Given the description of an element on the screen output the (x, y) to click on. 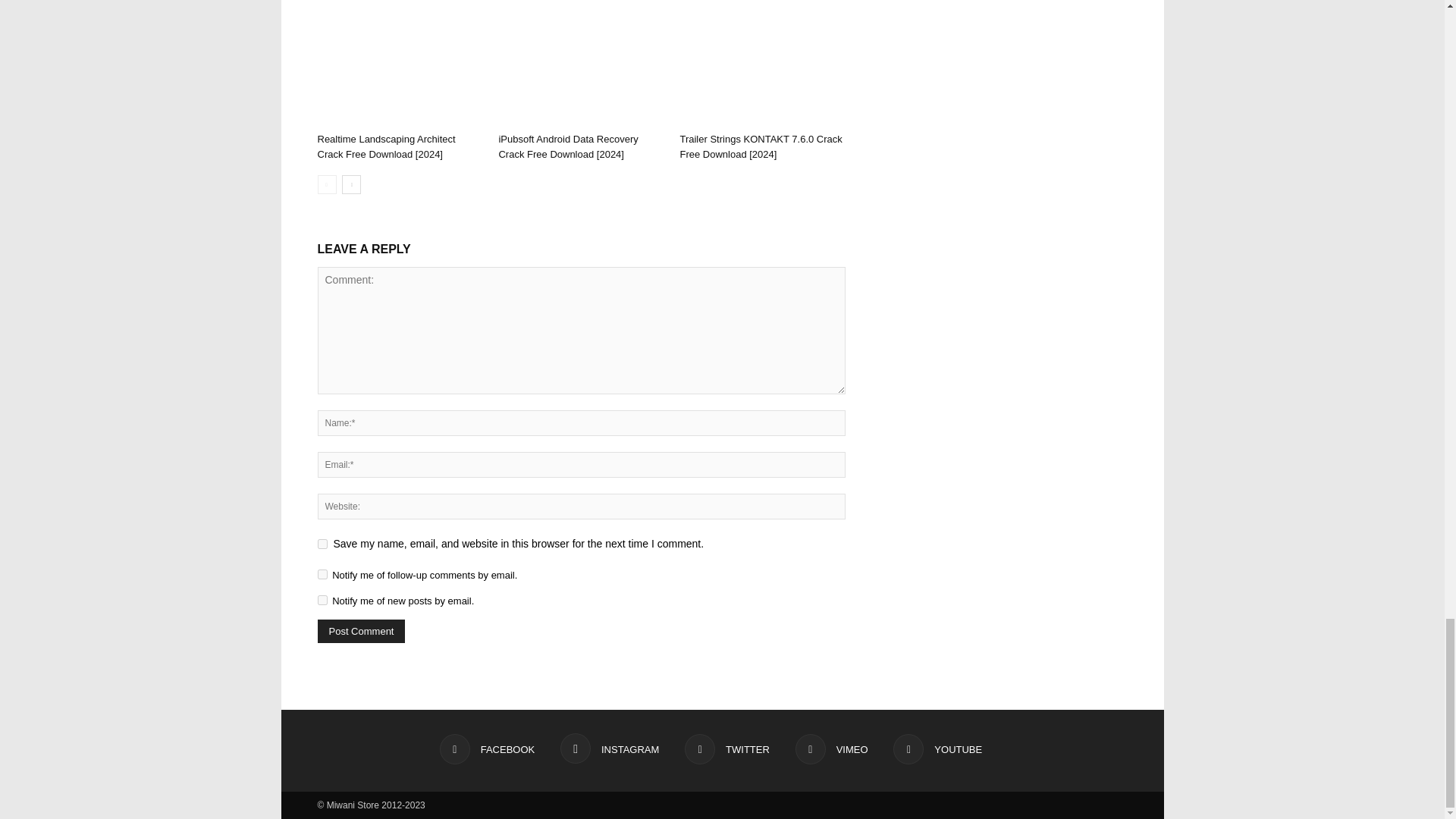
subscribe (321, 600)
yes (321, 543)
subscribe (321, 574)
Post Comment (360, 630)
